Given the description of an element on the screen output the (x, y) to click on. 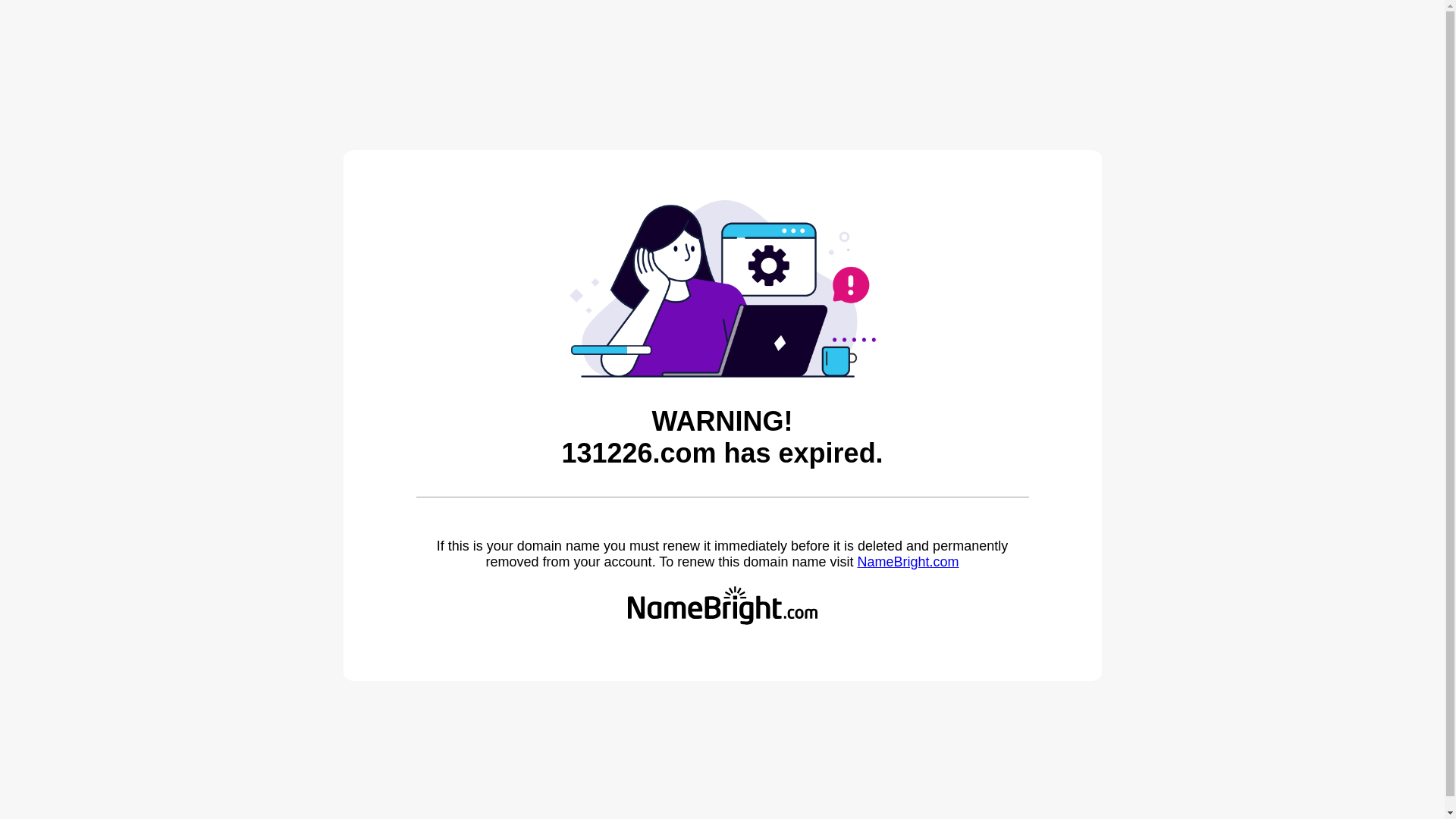
NameBright.com Element type: text (907, 561)
